Given the description of an element on the screen output the (x, y) to click on. 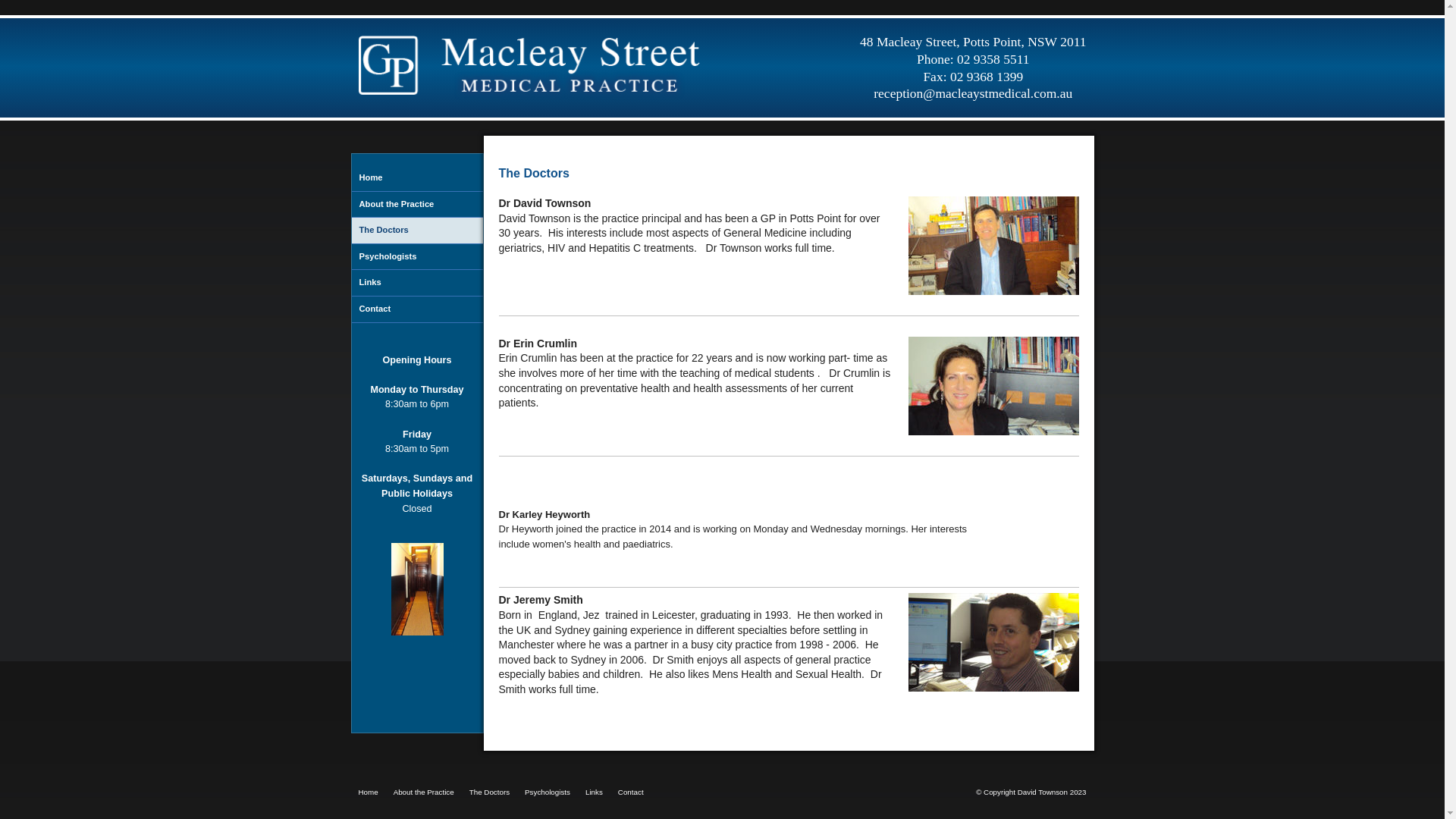
Home Element type: text (417, 178)
Contact Element type: text (630, 792)
About the Practice Element type: text (417, 204)
Psychologists Element type: text (547, 792)
Contact Element type: text (417, 309)
The Doctors Element type: text (417, 230)
The Doctors Element type: text (489, 792)
Links Element type: text (417, 282)
Psychologists Element type: text (417, 257)
About the Practice Element type: text (423, 792)
Home Element type: text (367, 792)
Links Element type: text (593, 792)
